Given the description of an element on the screen output the (x, y) to click on. 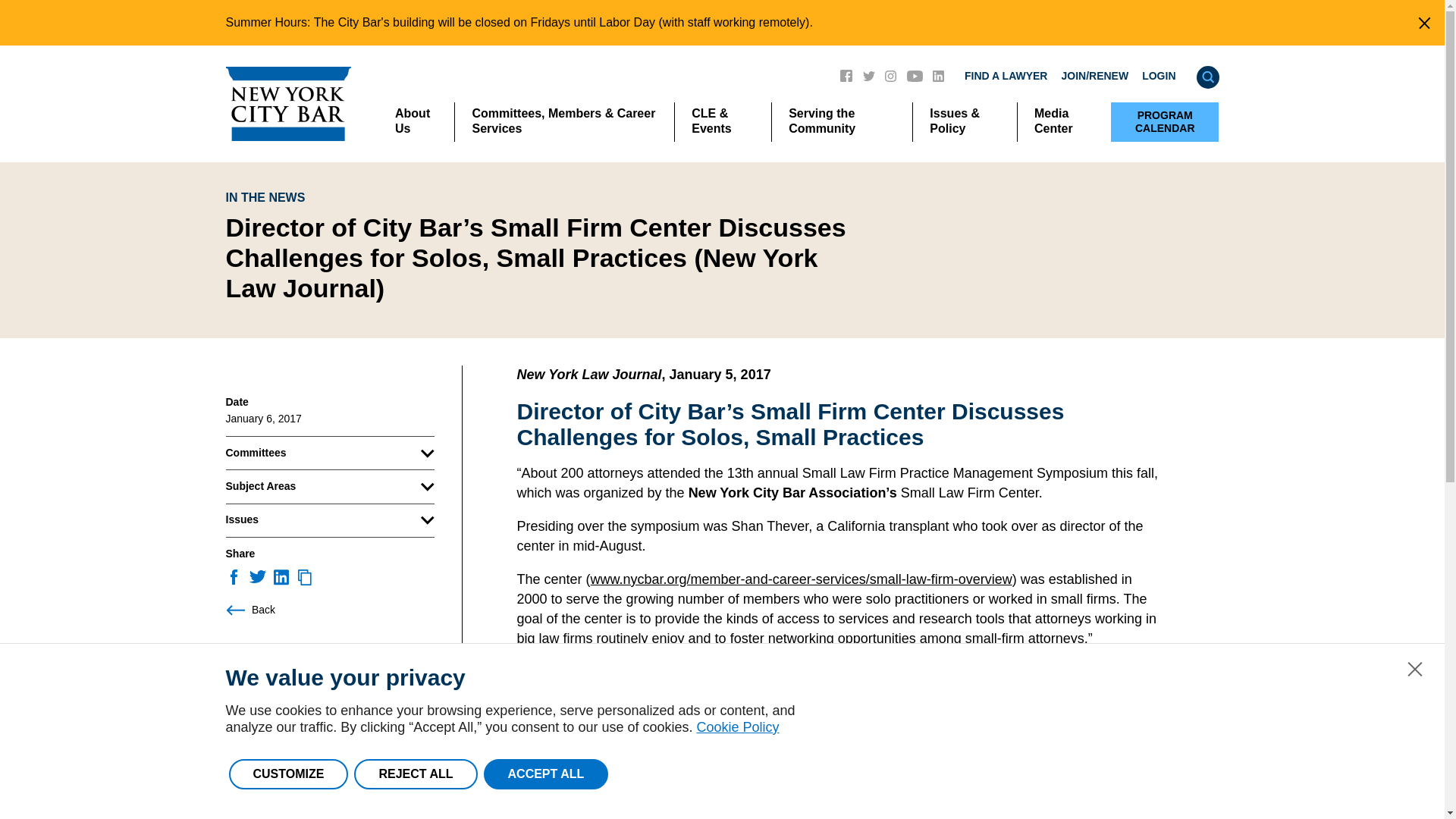
twitter (869, 74)
LOGIN (1157, 75)
FIND A LAWYER (1004, 75)
linkedin (938, 74)
youtube (915, 74)
About Us (416, 121)
facebook (845, 74)
instagram (890, 74)
